Given the description of an element on the screen output the (x, y) to click on. 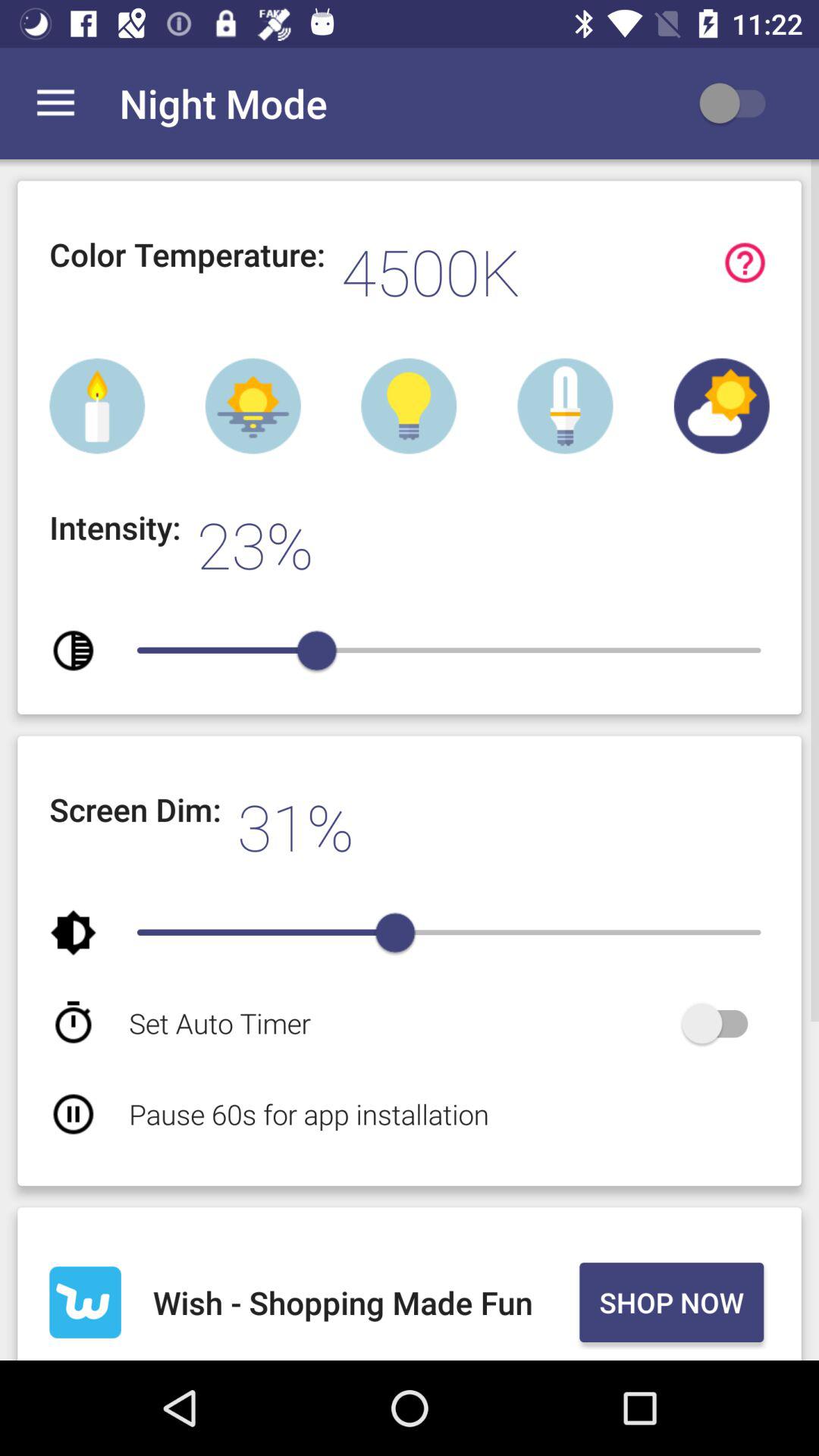
open item above the pause 60s for icon (402, 1022)
